Given the description of an element on the screen output the (x, y) to click on. 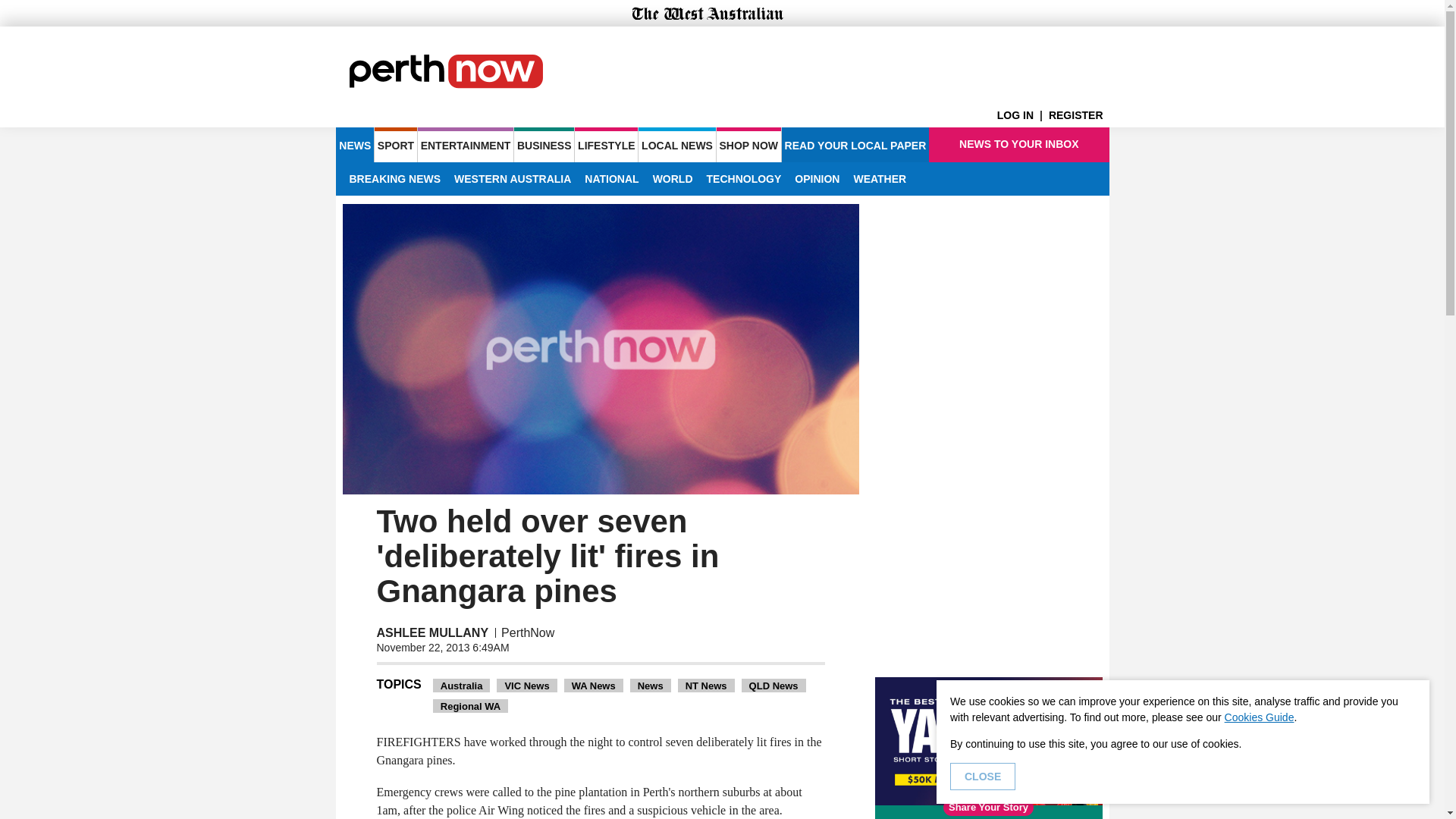
LOG IN (1022, 115)
ENTERTAINMENT (465, 144)
BUSINESS (543, 144)
SPORT (395, 144)
REGISTER (1078, 115)
NEWS (354, 144)
